Given the description of an element on the screen output the (x, y) to click on. 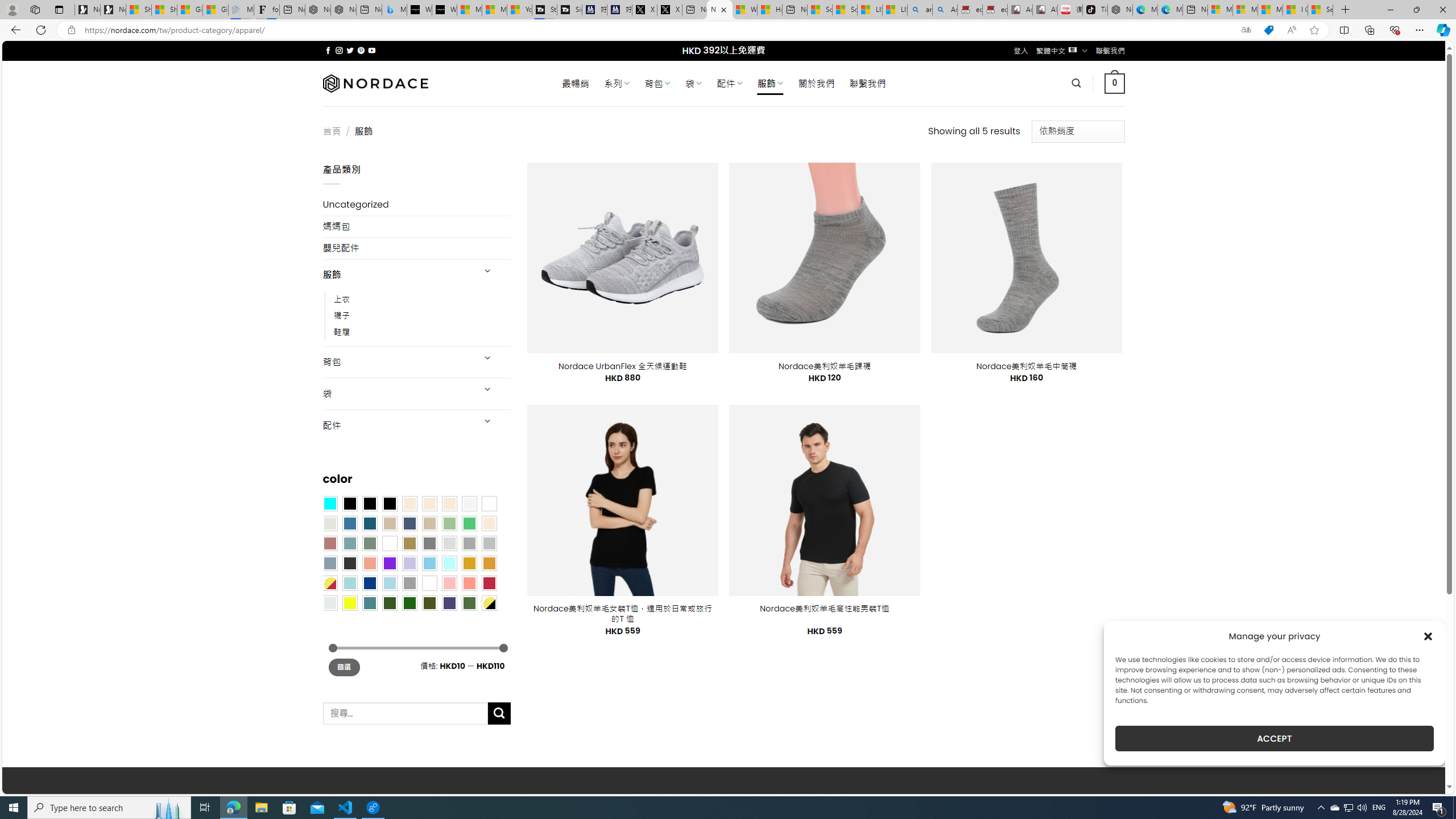
This site has coupons! Shopping in Microsoft Edge (1268, 29)
